Given the description of an element on the screen output the (x, y) to click on. 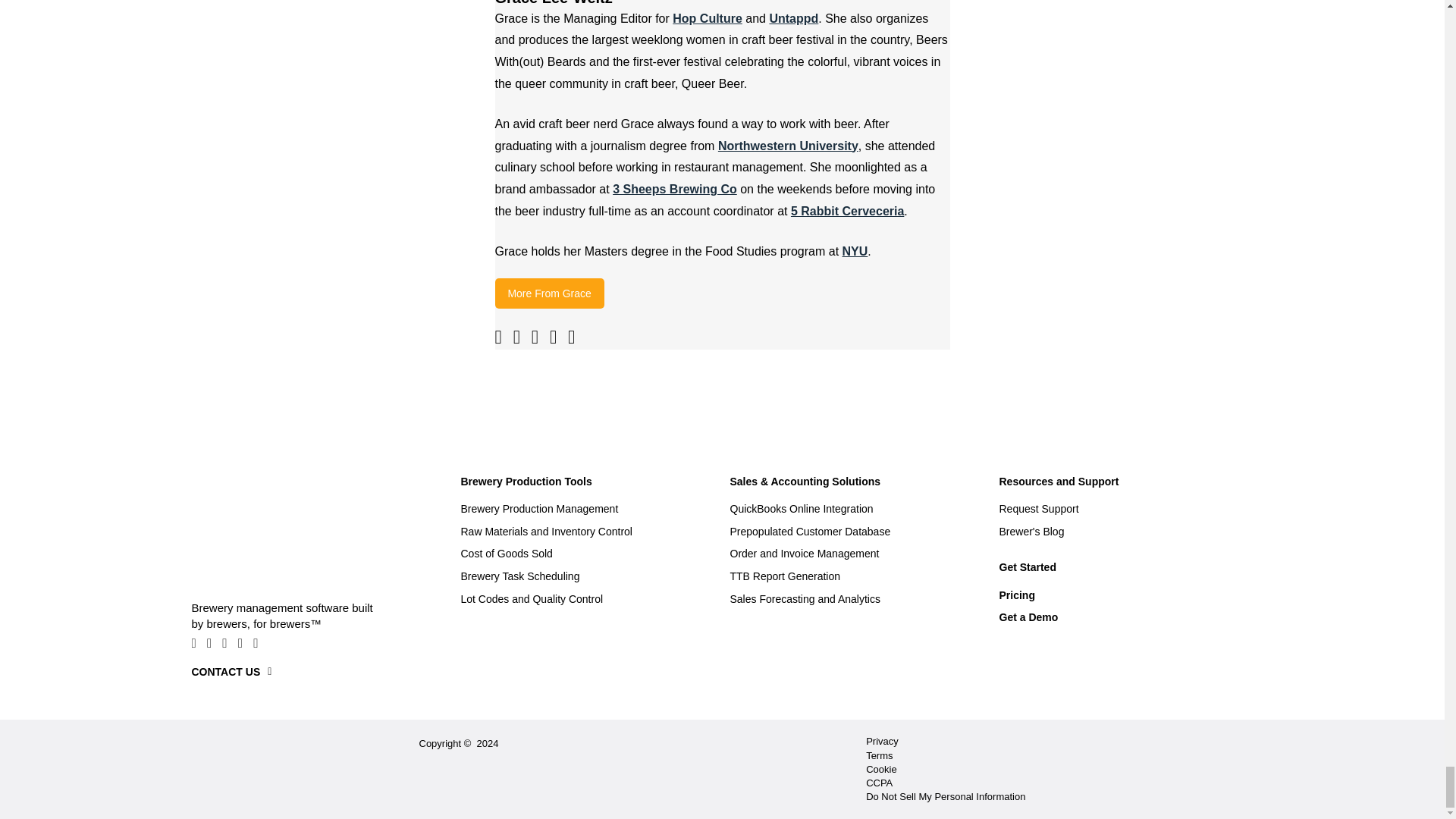
Northwestern University (788, 145)
Untappd (793, 18)
Grace Lee-Weitz (722, 4)
More From Grace (549, 292)
5 Rabbit Cerveceria (847, 210)
3 Sheeps Brewing Co (674, 188)
Hop Culture (707, 18)
NYU (855, 250)
